Given the description of an element on the screen output the (x, y) to click on. 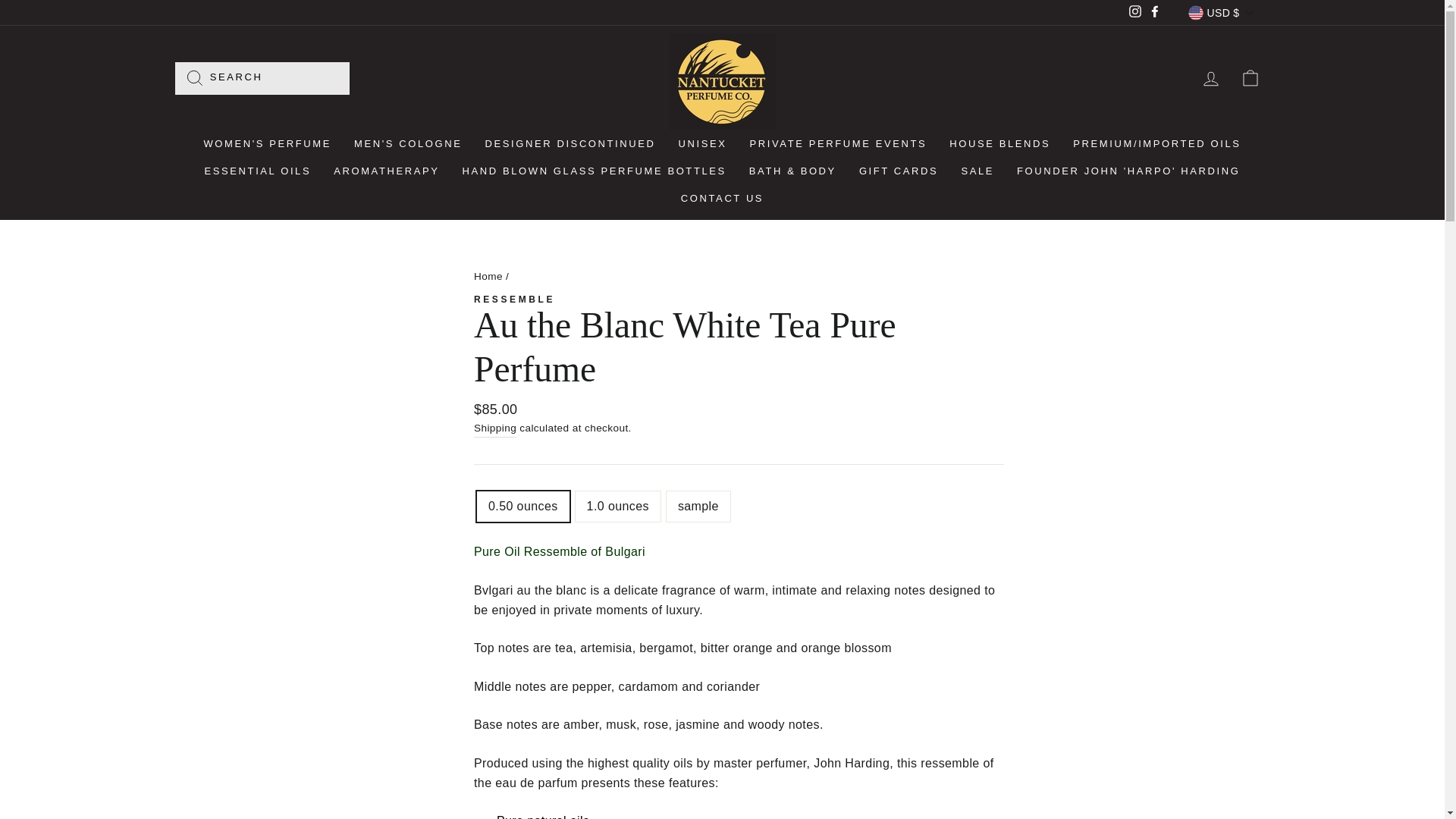
Back to the frontpage (488, 276)
